Given the description of an element on the screen output the (x, y) to click on. 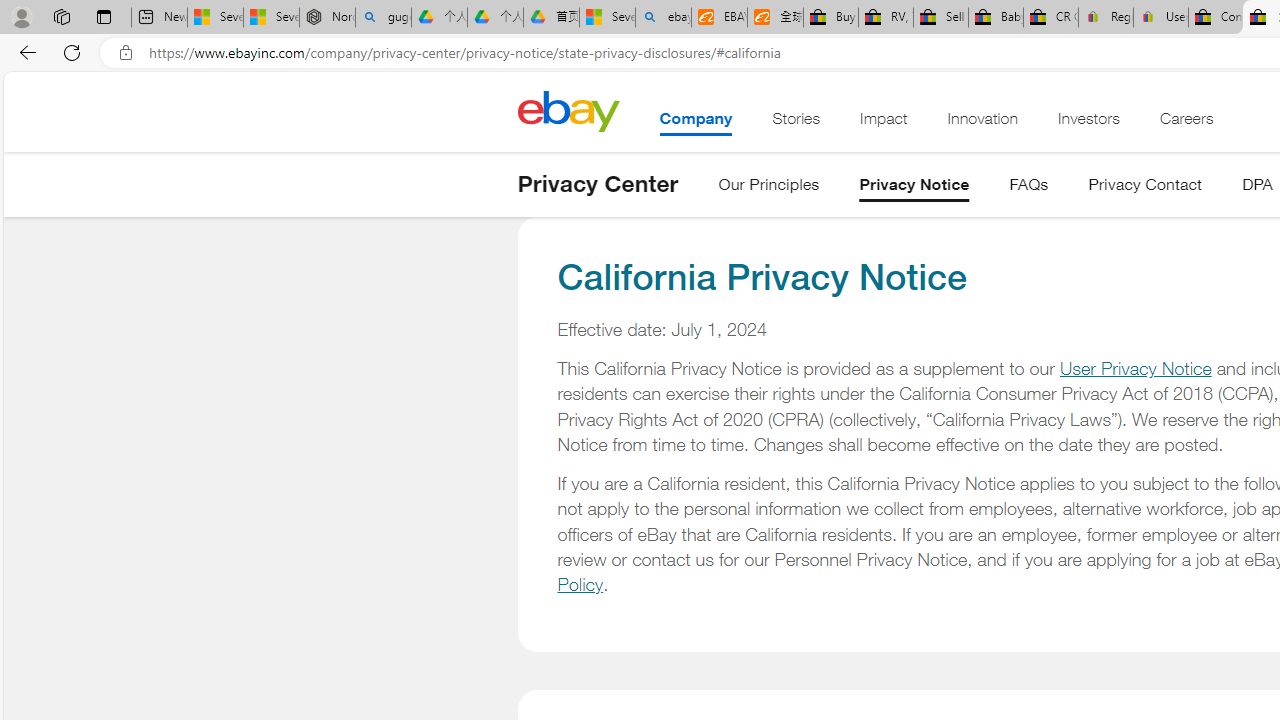
Buy Auto Parts & Accessories | eBay (830, 17)
